Given the description of an element on the screen output the (x, y) to click on. 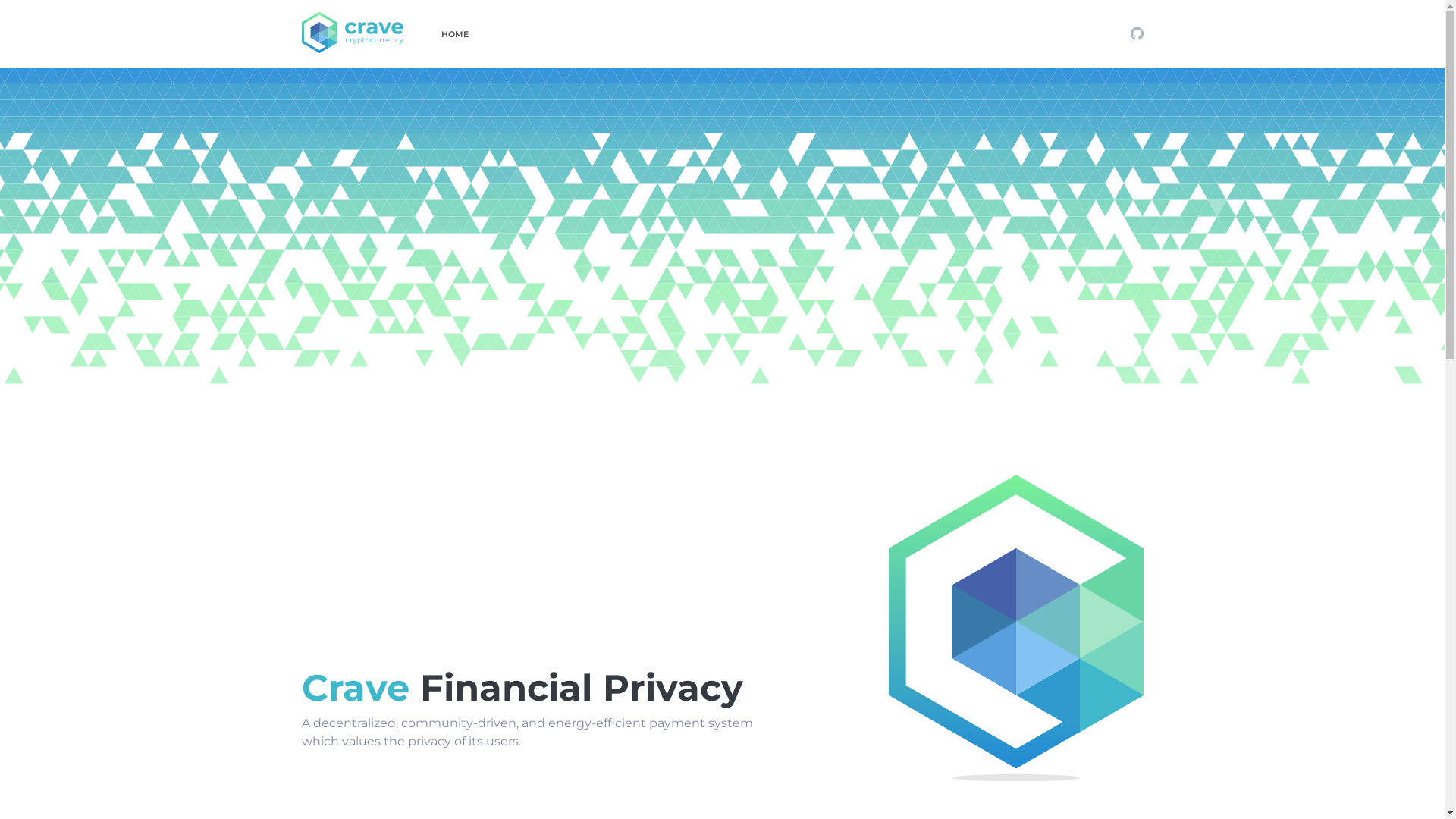
HOME Element type: text (454, 34)
